Given the description of an element on the screen output the (x, y) to click on. 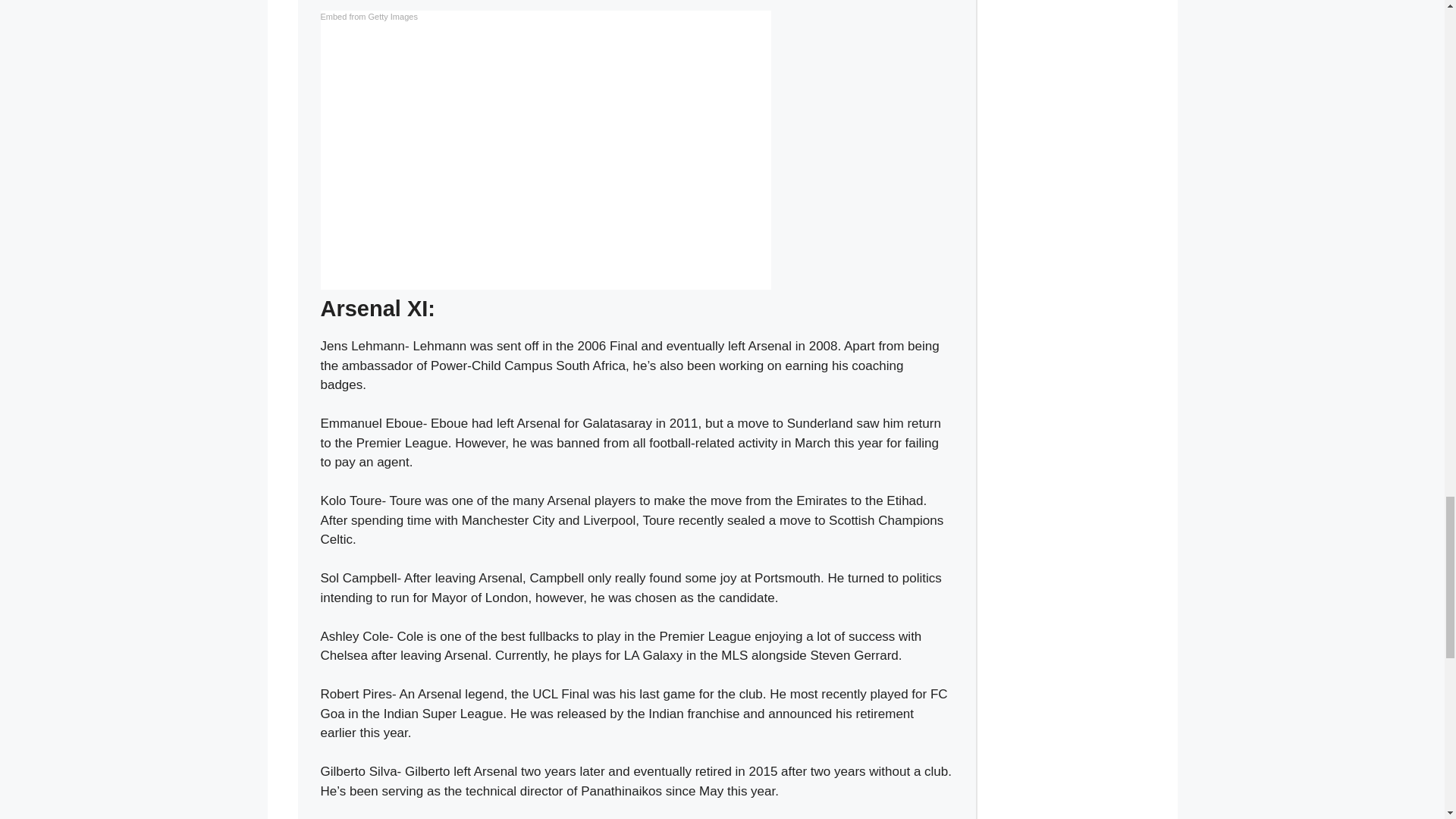
Embed from Getty Images (368, 16)
